Given the description of an element on the screen output the (x, y) to click on. 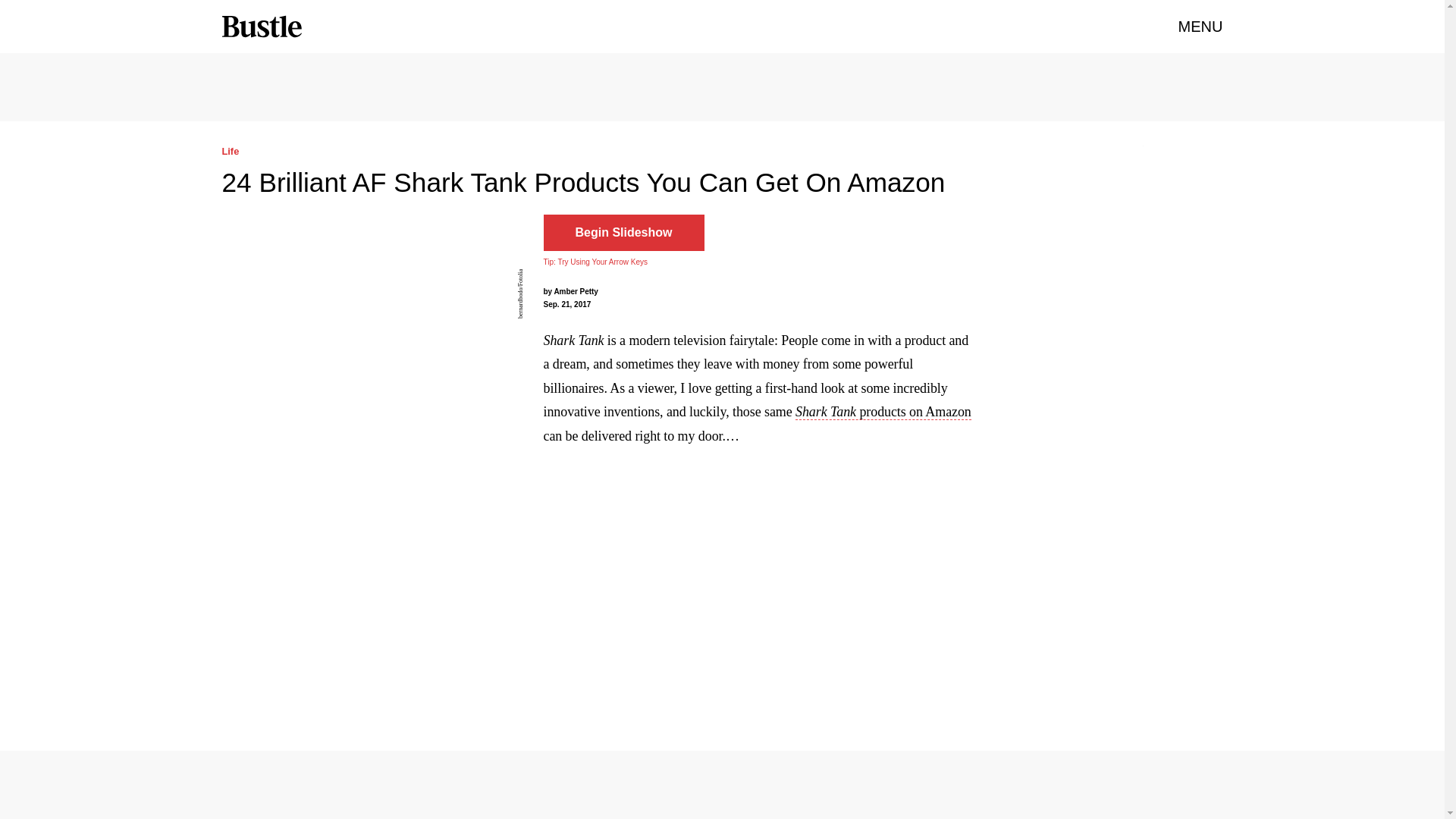
Begin Slideshow (623, 232)
Shark Tank products on Amazon (882, 412)
Bustle (261, 26)
